Given the description of an element on the screen output the (x, y) to click on. 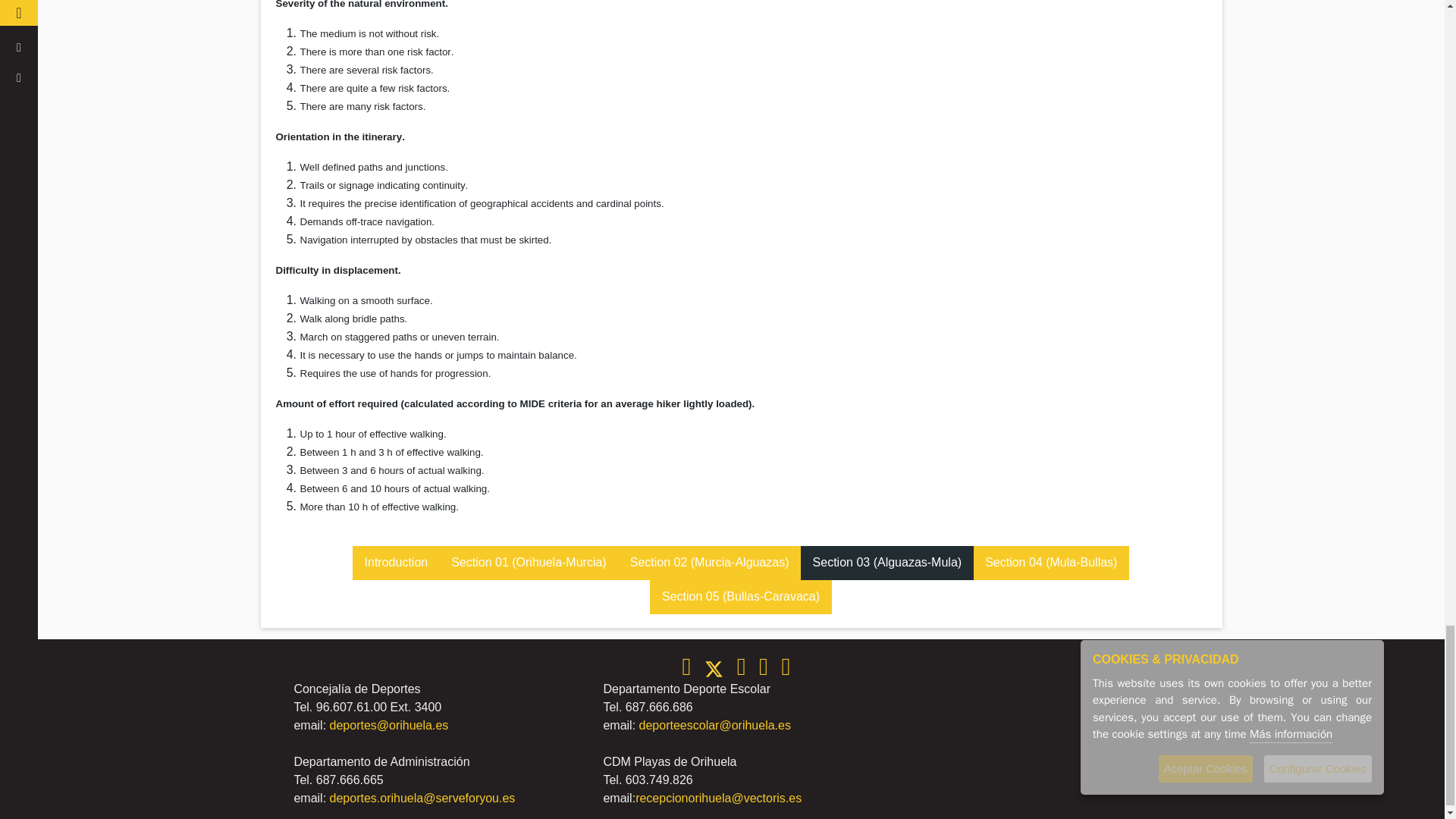
YouTube video player (1033, 741)
